Given the description of an element on the screen output the (x, y) to click on. 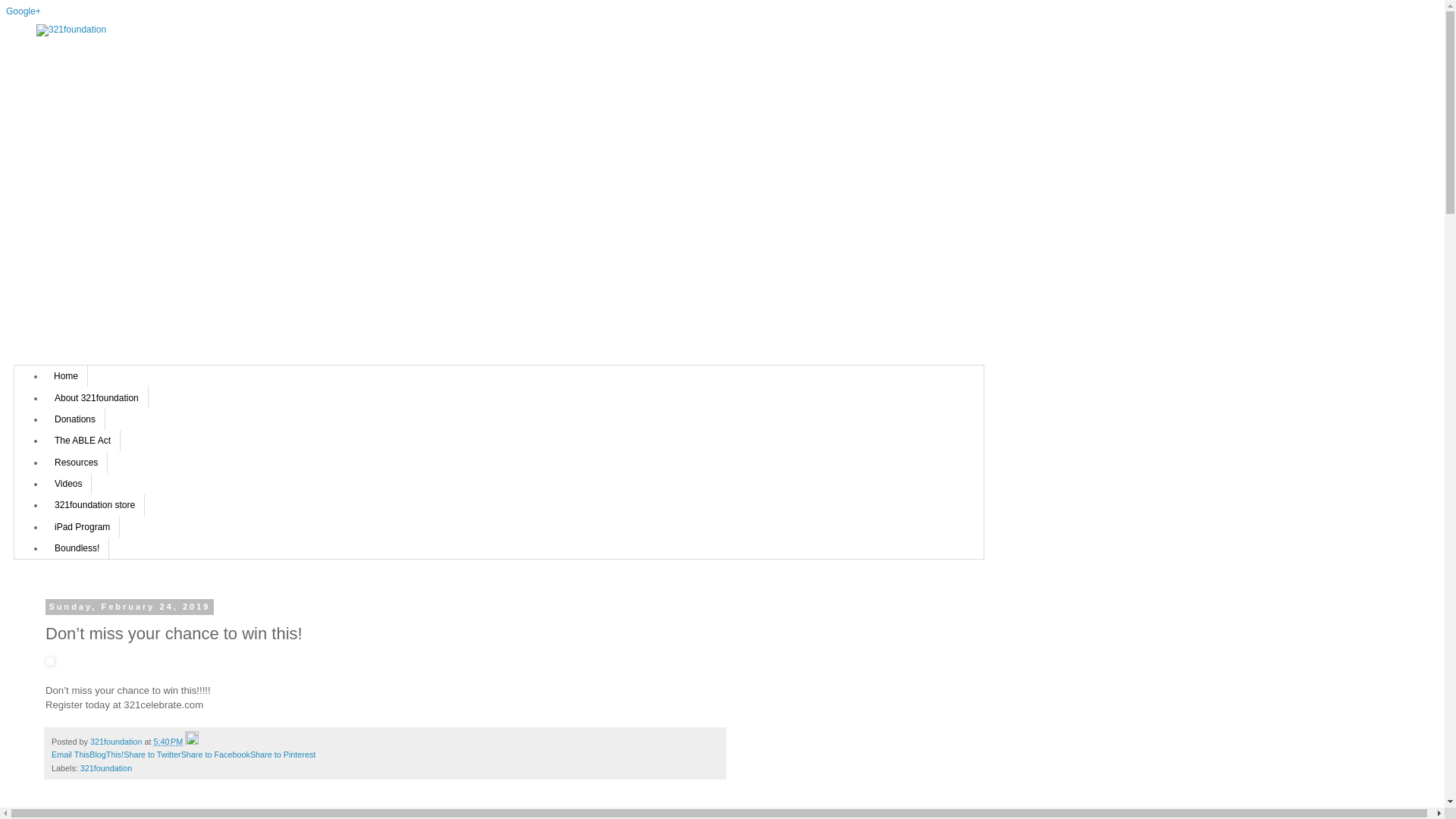
321foundation Element type: text (117, 741)
Email This Element type: text (70, 754)
Google+ Element type: text (23, 11)
Edit Post Element type: hover (191, 741)
iPad Program Element type: text (81, 526)
Resources Element type: text (75, 462)
Boundless! Element type: text (76, 547)
Home Element type: text (65, 375)
Share to Facebook Element type: text (215, 754)
BlogThis! Element type: text (106, 754)
Share to Twitter Element type: text (151, 754)
321foundation Element type: text (105, 767)
The ABLE Act Element type: text (82, 440)
Donations Element type: text (74, 418)
Videos Element type: text (67, 483)
Share to Pinterest Element type: text (282, 754)
321foundation store Element type: text (94, 504)
About 321foundation Element type: text (96, 396)
